Given the description of an element on the screen output the (x, y) to click on. 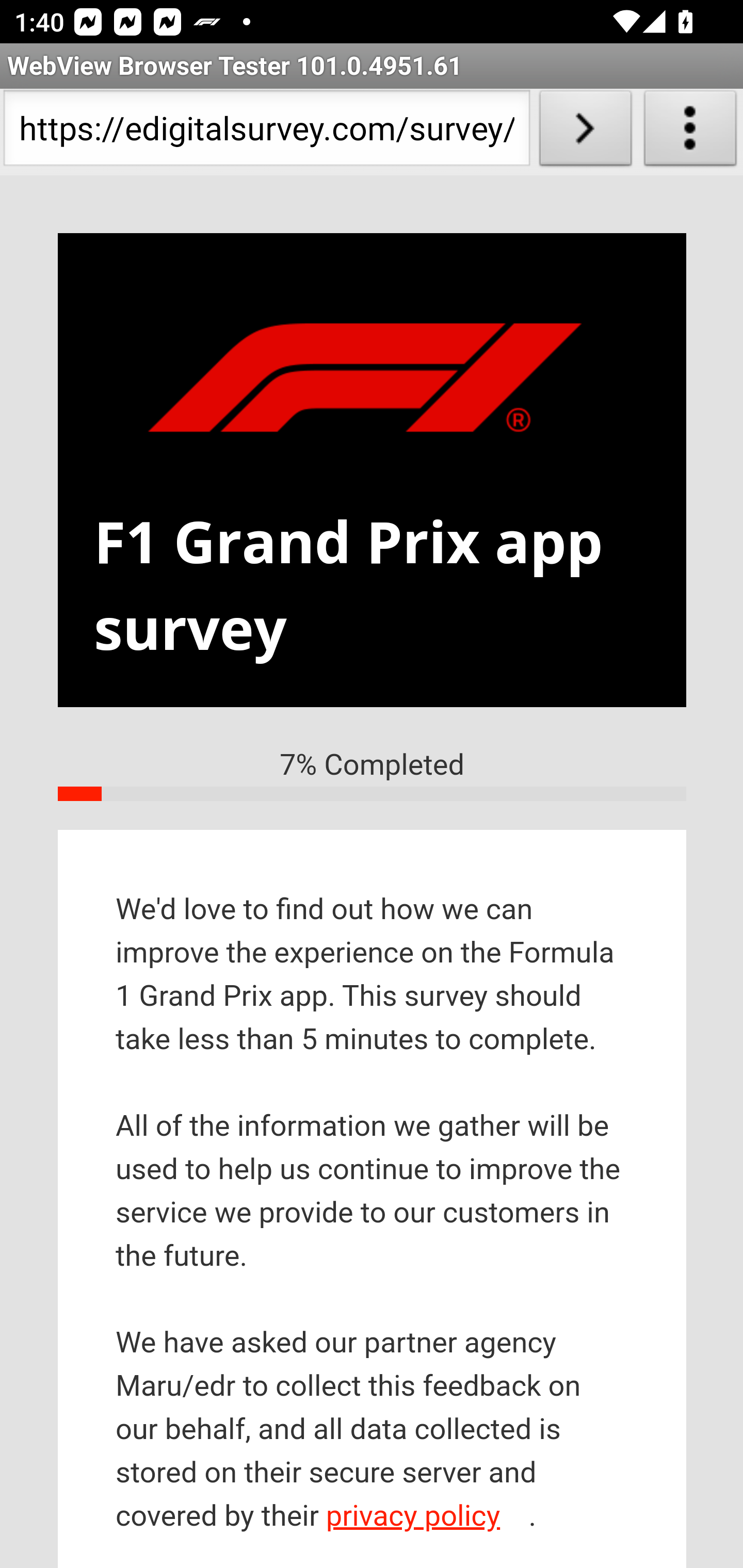
Load URL (585, 132)
About WebView (690, 132)
privacy policy  privacy policy    (425, 1517)
